Given the description of an element on the screen output the (x, y) to click on. 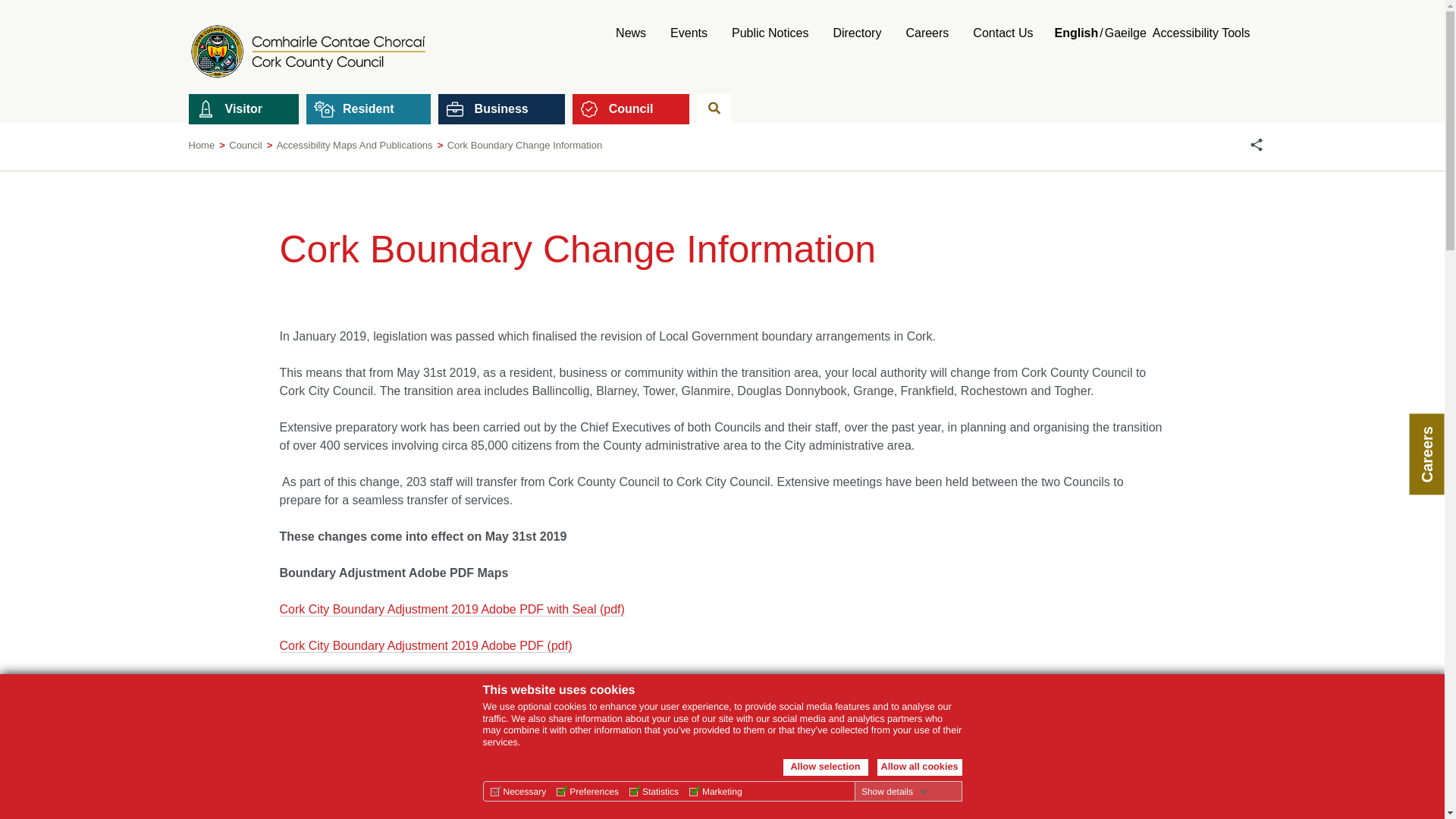
Allow all cookies (918, 767)
Show details (895, 791)
Allow selection (825, 767)
